Given the description of an element on the screen output the (x, y) to click on. 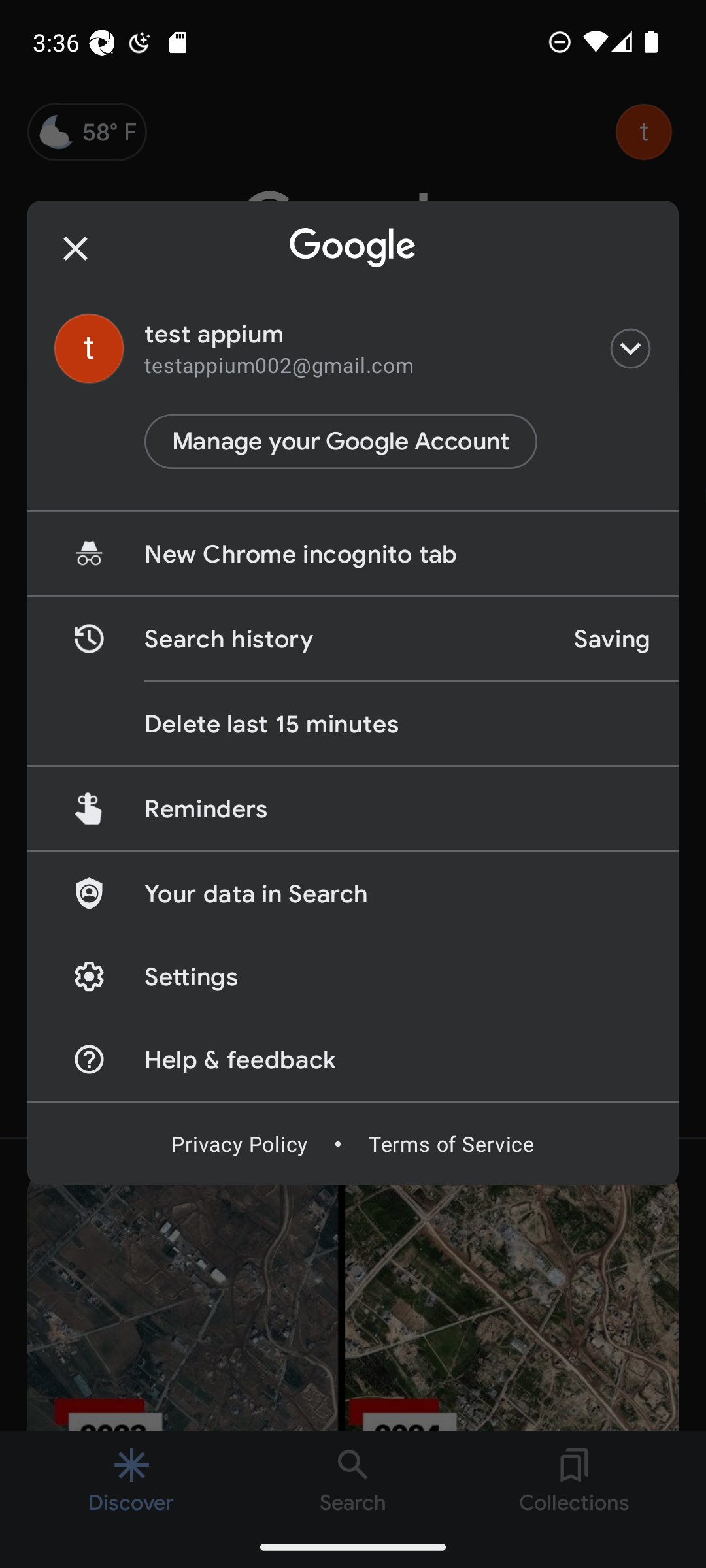
Close (75, 248)
Manage your Google Account (340, 440)
New Chrome incognito tab (353, 553)
Search history Saving (353, 638)
Reminders (353, 807)
Your data in Search (353, 892)
Settings (353, 975)
Help & feedback (353, 1058)
Privacy Policy (239, 1143)
Terms of Service (450, 1143)
